Given the description of an element on the screen output the (x, y) to click on. 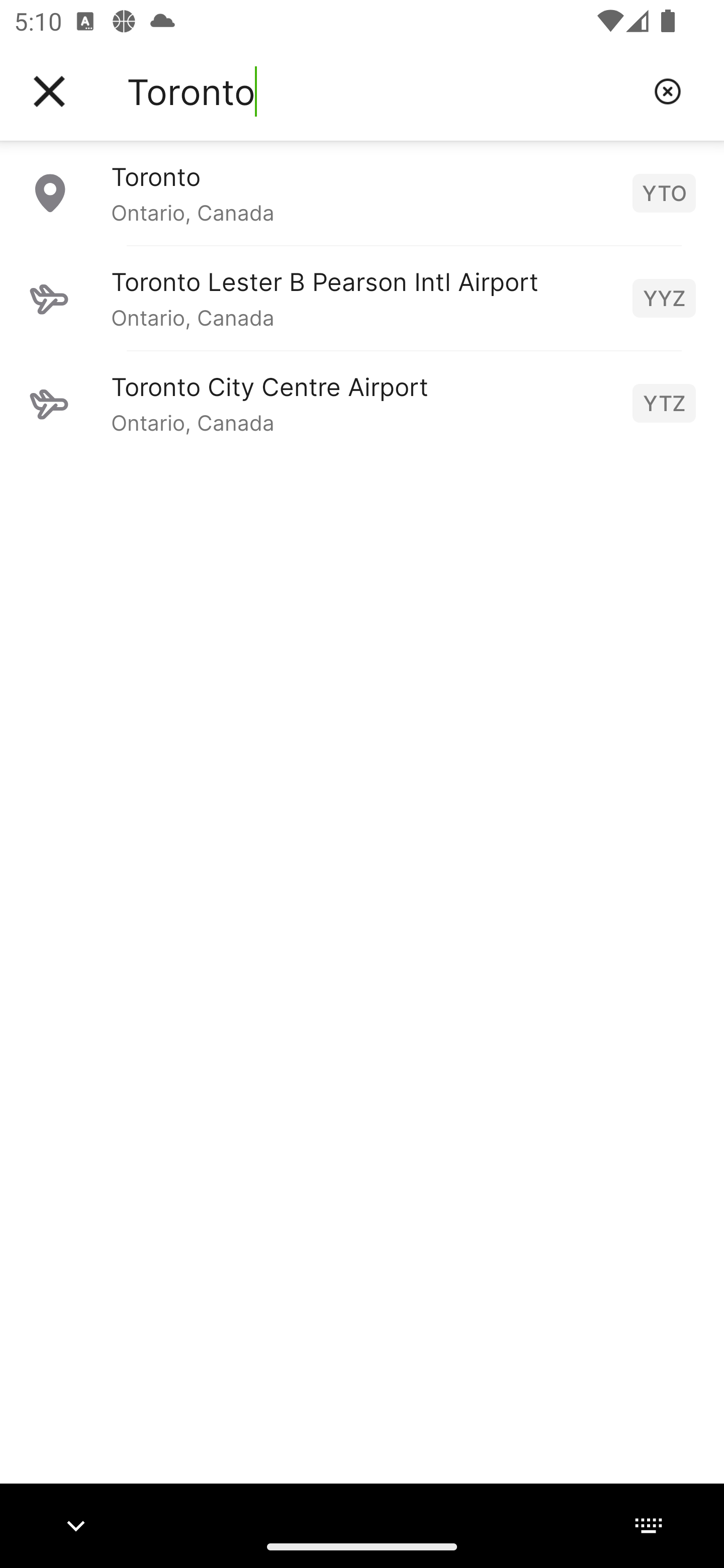
Toronto (382, 91)
Toronto Ontario, Canada YTO (362, 192)
Toronto City Centre Airport Ontario, Canada YTZ (362, 402)
